Given the description of an element on the screen output the (x, y) to click on. 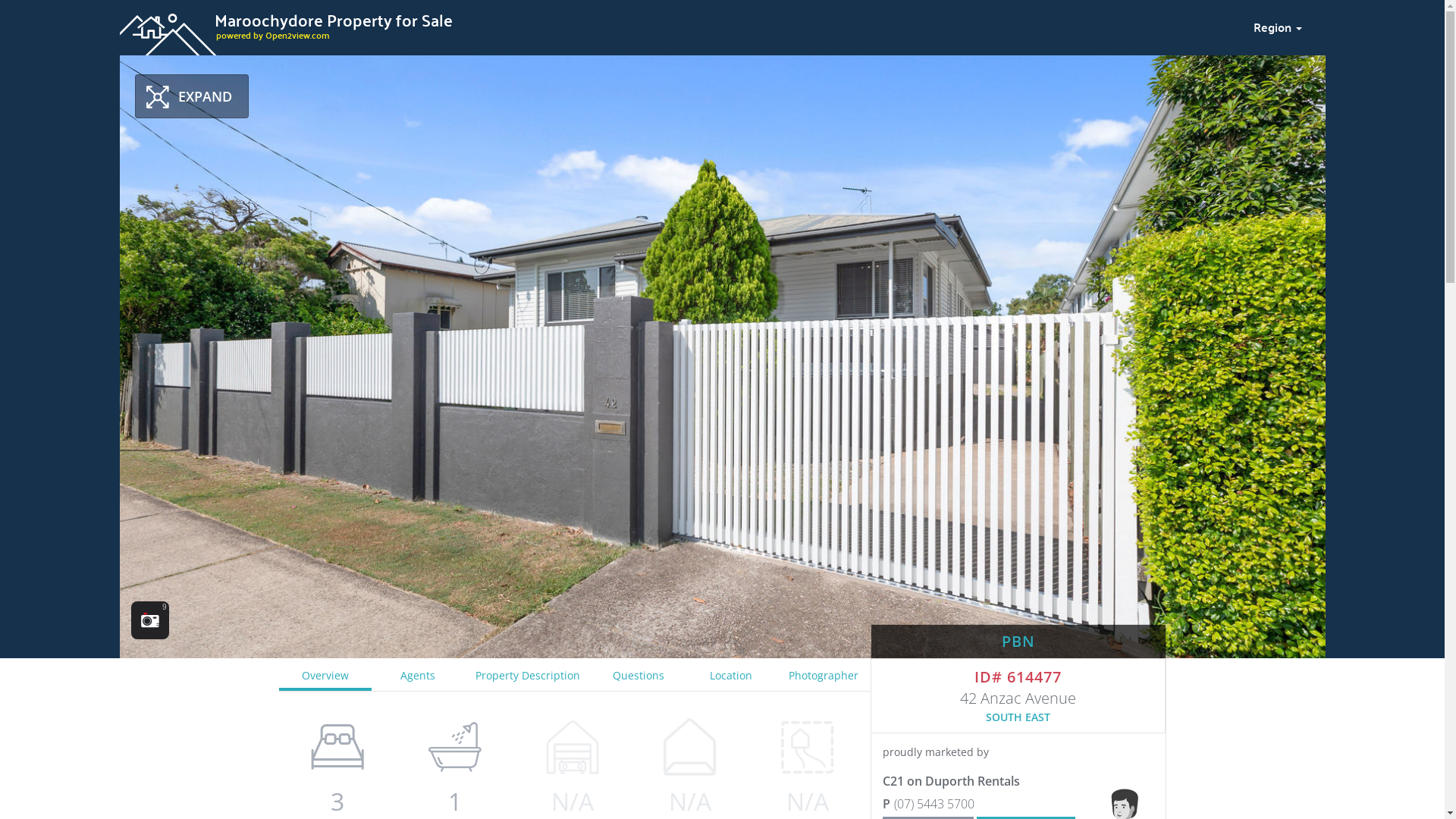
Questions Element type: text (637, 674)
(07) 5443 5700 Element type: text (987, 803)
Overview Element type: text (325, 674)
Agents Element type: text (417, 674)
Maroochydore Property for Sale
powered by Open2view.com Element type: text (676, 25)
Photographer Element type: text (823, 674)
Property Description Element type: text (527, 674)
Location Element type: text (730, 674)
